Given the description of an element on the screen output the (x, y) to click on. 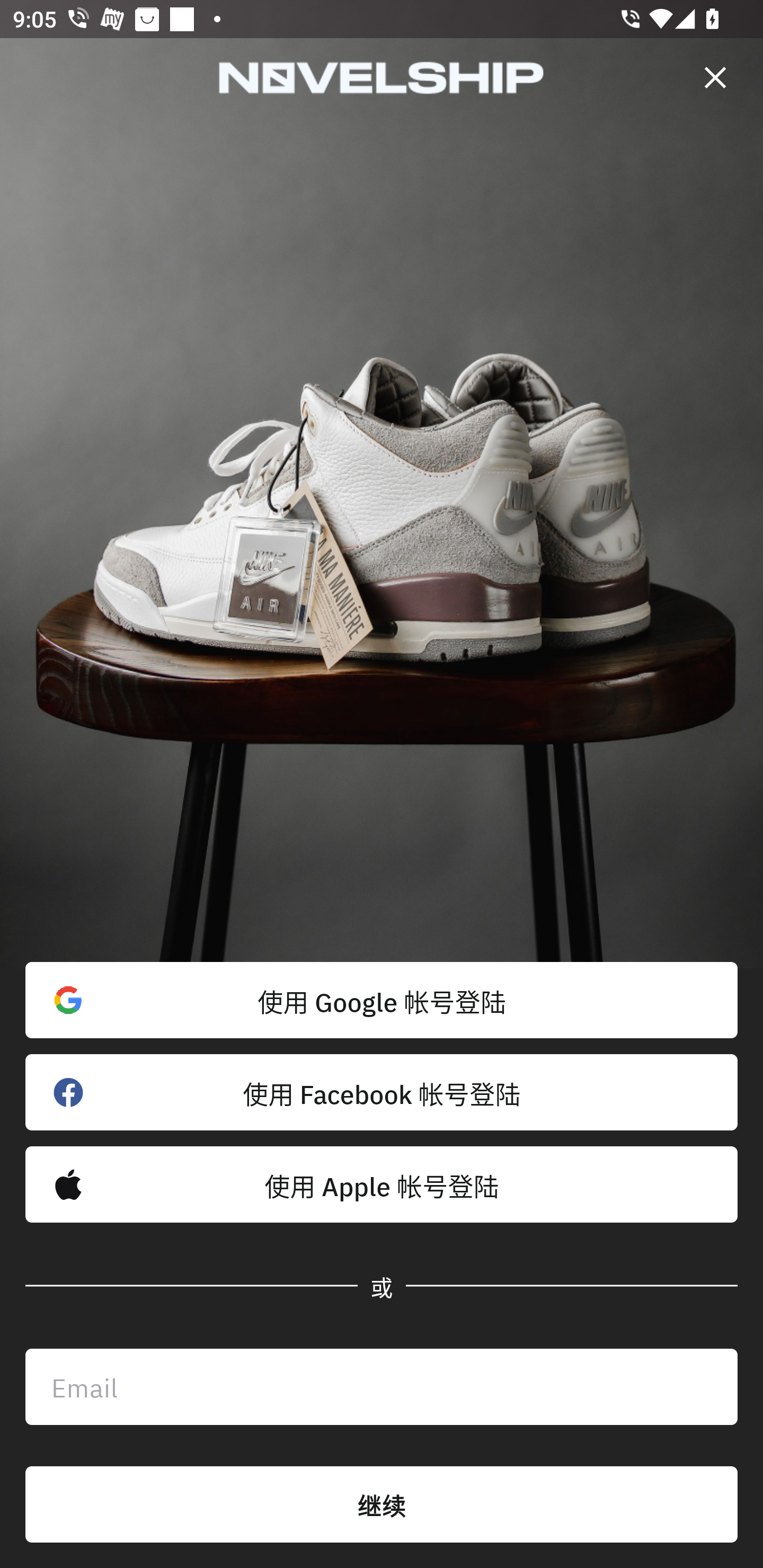
使用 Google 帐号登陆 (381, 1000)
使用 Facebook 帐号登陆 󰈌 (381, 1091)
 使用 Apple 帐号登陆 (381, 1184)
Email (381, 1386)
继续 (381, 1504)
